Given the description of an element on the screen output the (x, y) to click on. 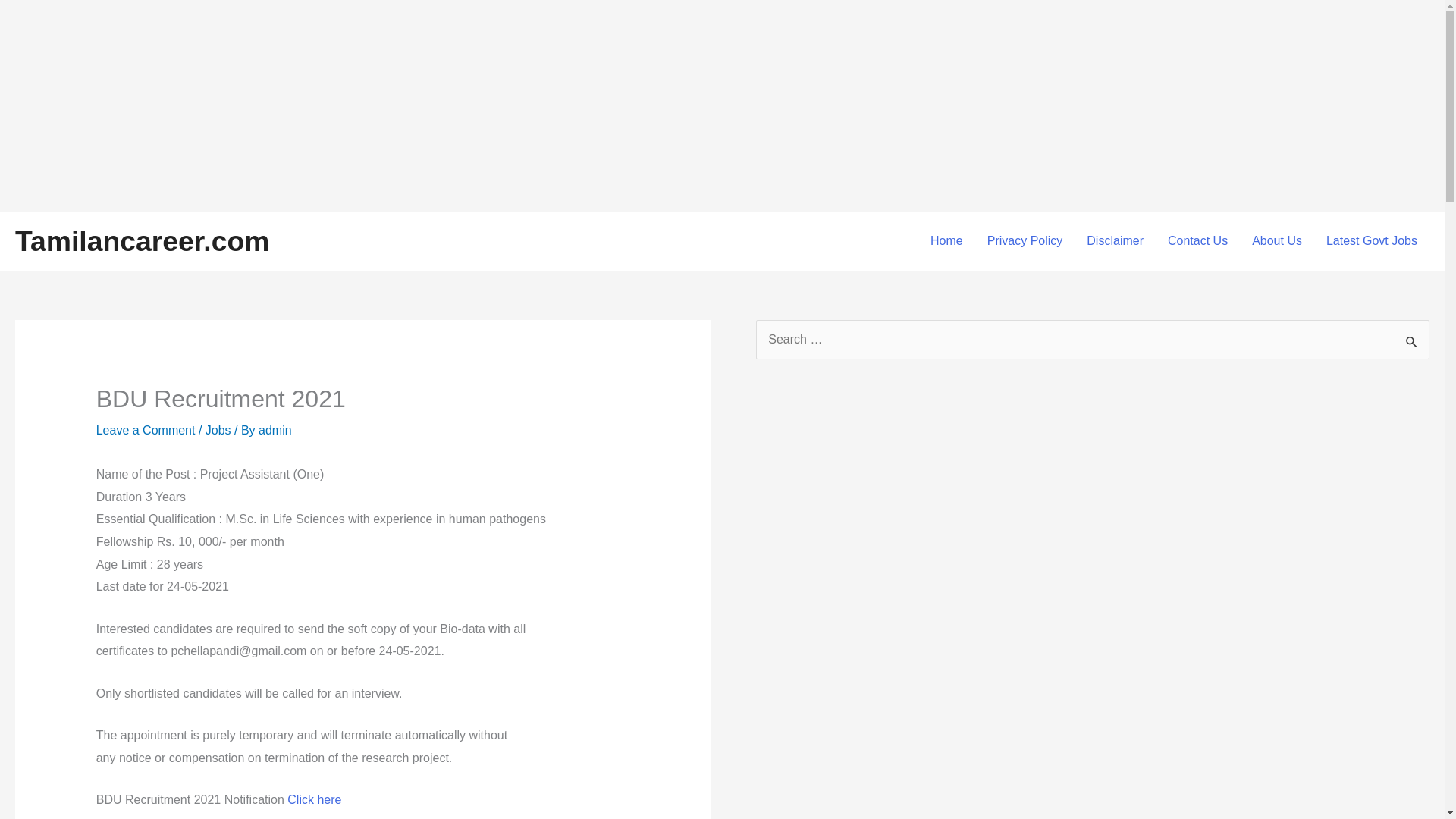
Tamilancareer.com (141, 241)
Privacy Policy (1025, 240)
Jobs (218, 430)
admin (275, 430)
Click here (313, 799)
About Us (1277, 240)
Home (946, 240)
View all posts by admin (275, 430)
Latest Govt Jobs (1371, 240)
